Given the description of an element on the screen output the (x, y) to click on. 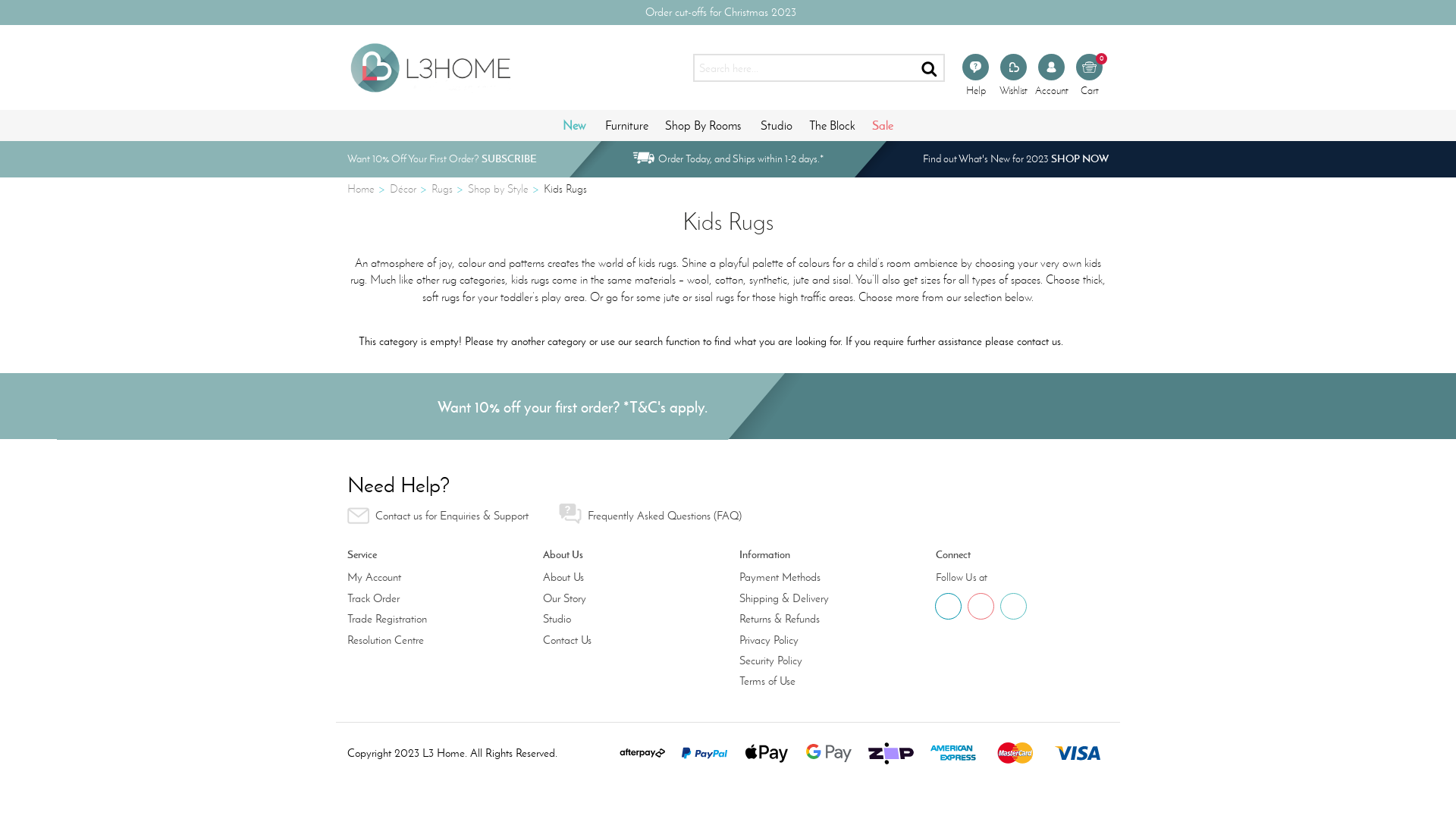
Payment Methods Element type: text (820, 576)
Studio Element type: text (623, 618)
Order cut-offs for Christmas 2023 Element type: text (716, 11)
Studio Element type: text (776, 125)
The Block Element type: text (831, 125)
Contact Us Element type: text (623, 639)
Facebook Element type: text (947, 606)
Trade Registration Element type: text (427, 618)
Frequently Asked Questions (FAQ) Element type: text (649, 513)
New Element type: text (573, 125)
Our Story Element type: text (623, 598)
Home Element type: text (360, 188)
Account Element type: text (1051, 75)
Search Element type: text (929, 67)
Kids Rugs Element type: text (564, 188)
Sale Element type: text (882, 124)
Shop by Style Element type: text (497, 188)
Want 10% Off Your First Order?SUBSCRIBE Element type: text (441, 158)
Shop By Rooms Element type: text (702, 125)
Find out What's New for 2023SHOP NOW Element type: text (1015, 158)
Security Policy Element type: text (820, 660)
Shipping & Delivery Element type: text (820, 598)
Instagram Element type: text (980, 606)
Terms of Use Element type: text (820, 680)
Resolution Centre Element type: text (427, 639)
Furniture Element type: text (626, 125)
Pinterest Element type: text (1012, 606)
About Us Element type: text (623, 576)
Returns & Refunds Element type: text (820, 618)
L3 Home Element type: hover (430, 65)
Track Order Element type: text (427, 598)
Contact us for Enquiries & Support Element type: text (437, 515)
Rugs Element type: text (441, 188)
My Account Element type: text (427, 576)
Privacy Policy Element type: text (820, 639)
Wishlist Element type: text (1013, 75)
Help Element type: text (975, 75)
0
Cart Element type: text (1089, 75)
